Given the description of an element on the screen output the (x, y) to click on. 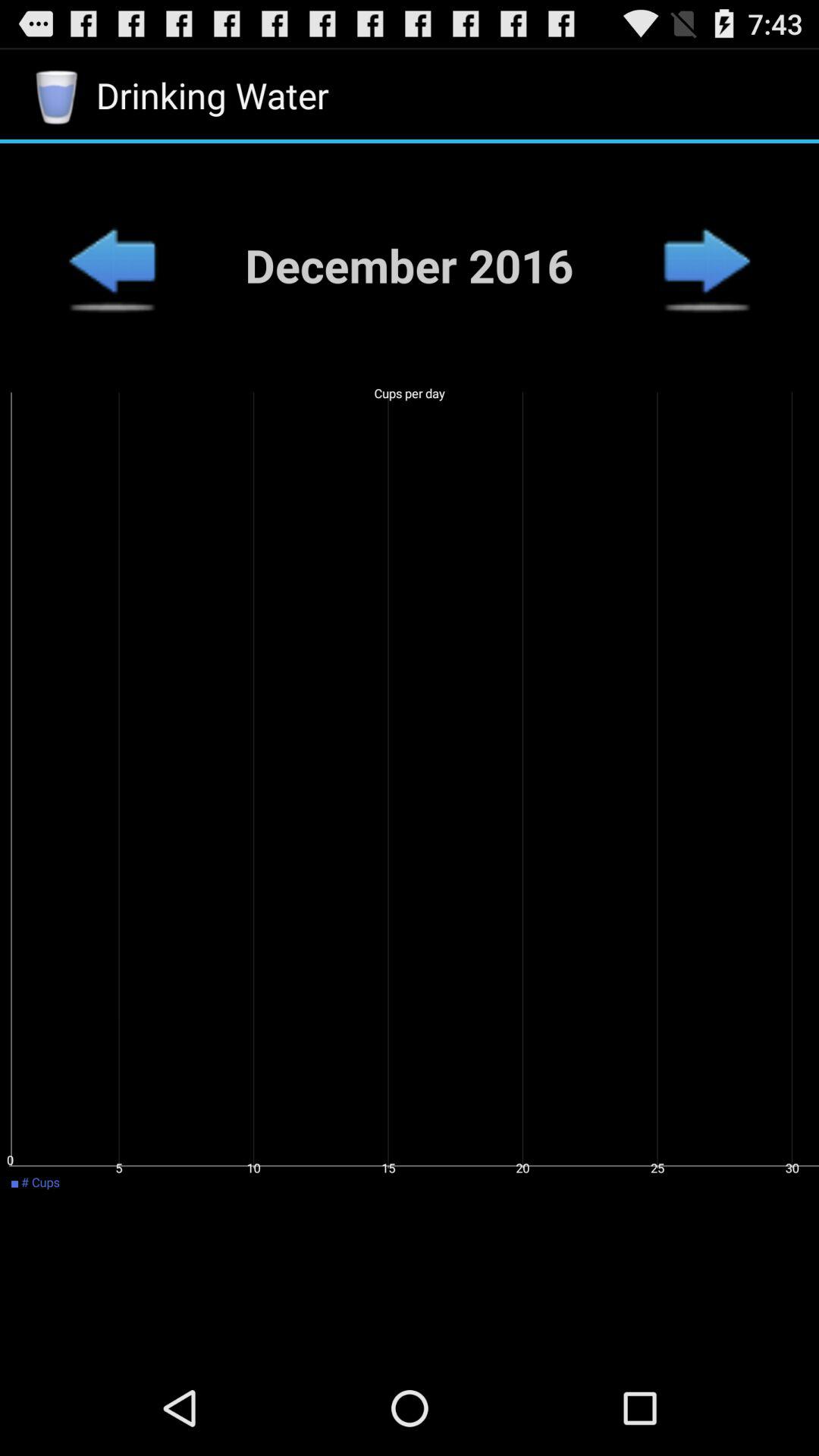
month back button (111, 264)
